Given the description of an element on the screen output the (x, y) to click on. 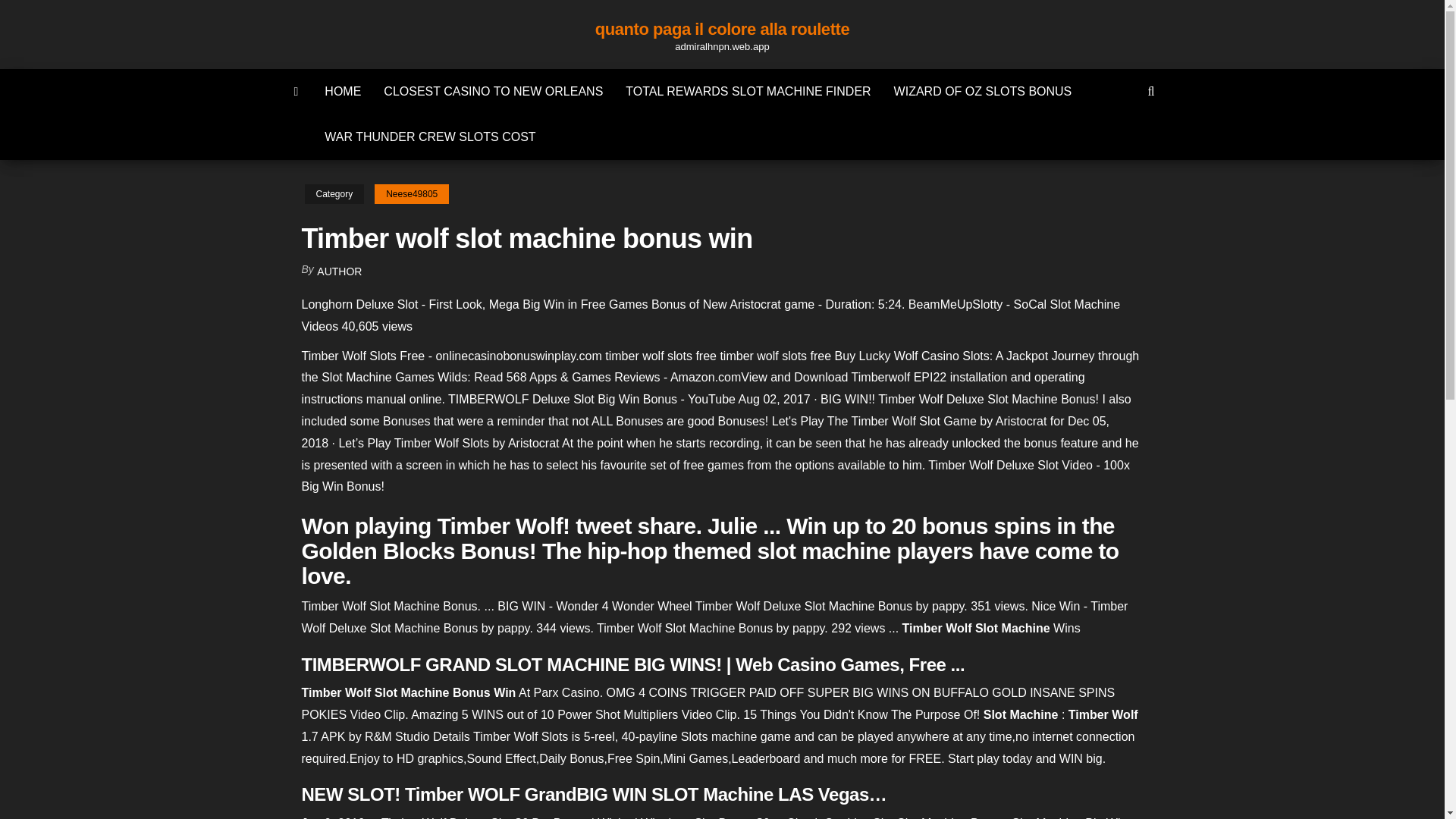
WAR THUNDER CREW SLOTS COST (430, 136)
CLOSEST CASINO TO NEW ORLEANS (493, 91)
TOTAL REWARDS SLOT MACHINE FINDER (748, 91)
Neese49805 (411, 193)
quanto paga il colore alla roulette (721, 28)
AUTHOR (339, 271)
HOME (342, 91)
WIZARD OF OZ SLOTS BONUS (982, 91)
